Given the description of an element on the screen output the (x, y) to click on. 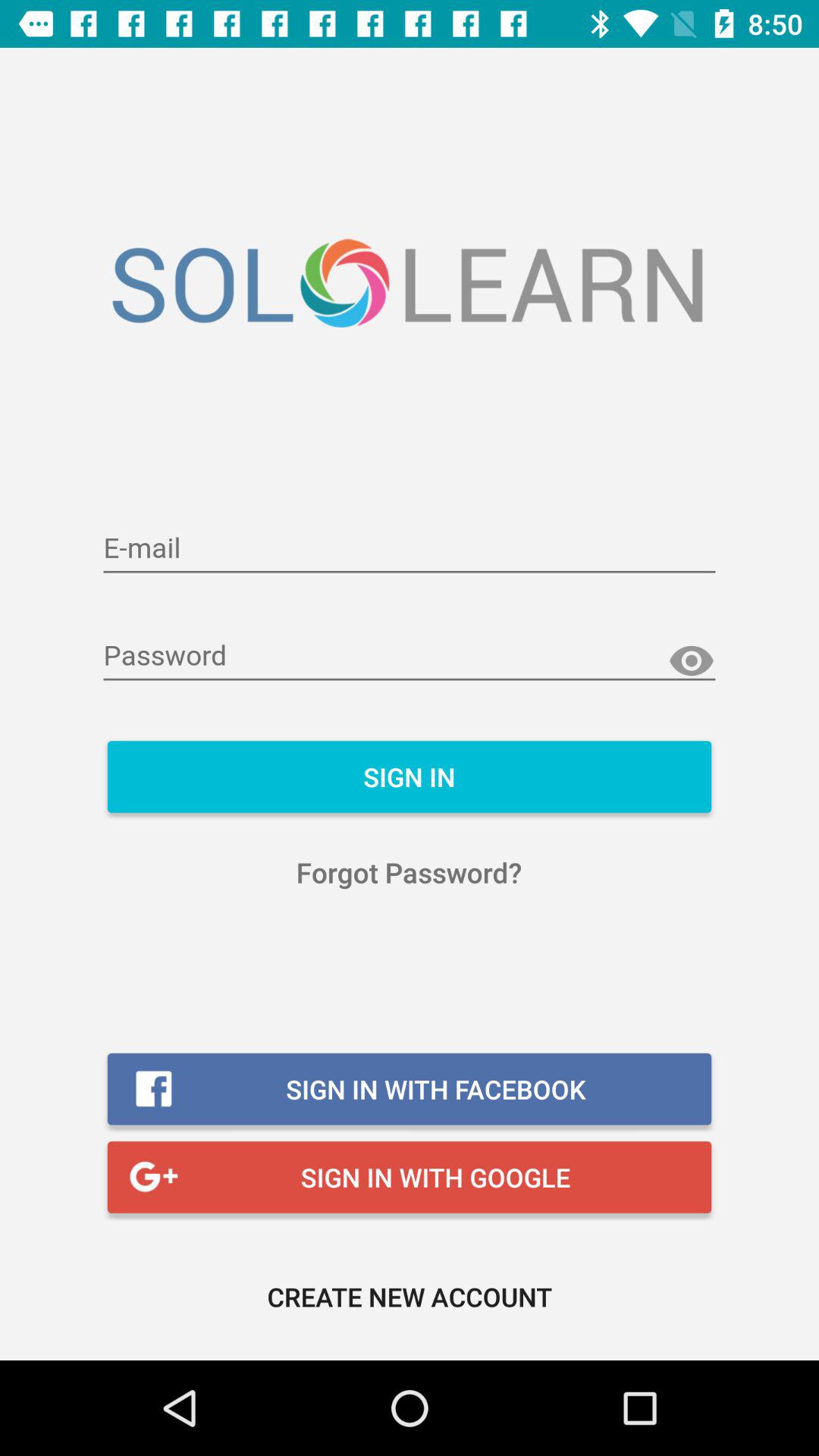
click the create new account item (409, 1296)
